Given the description of an element on the screen output the (x, y) to click on. 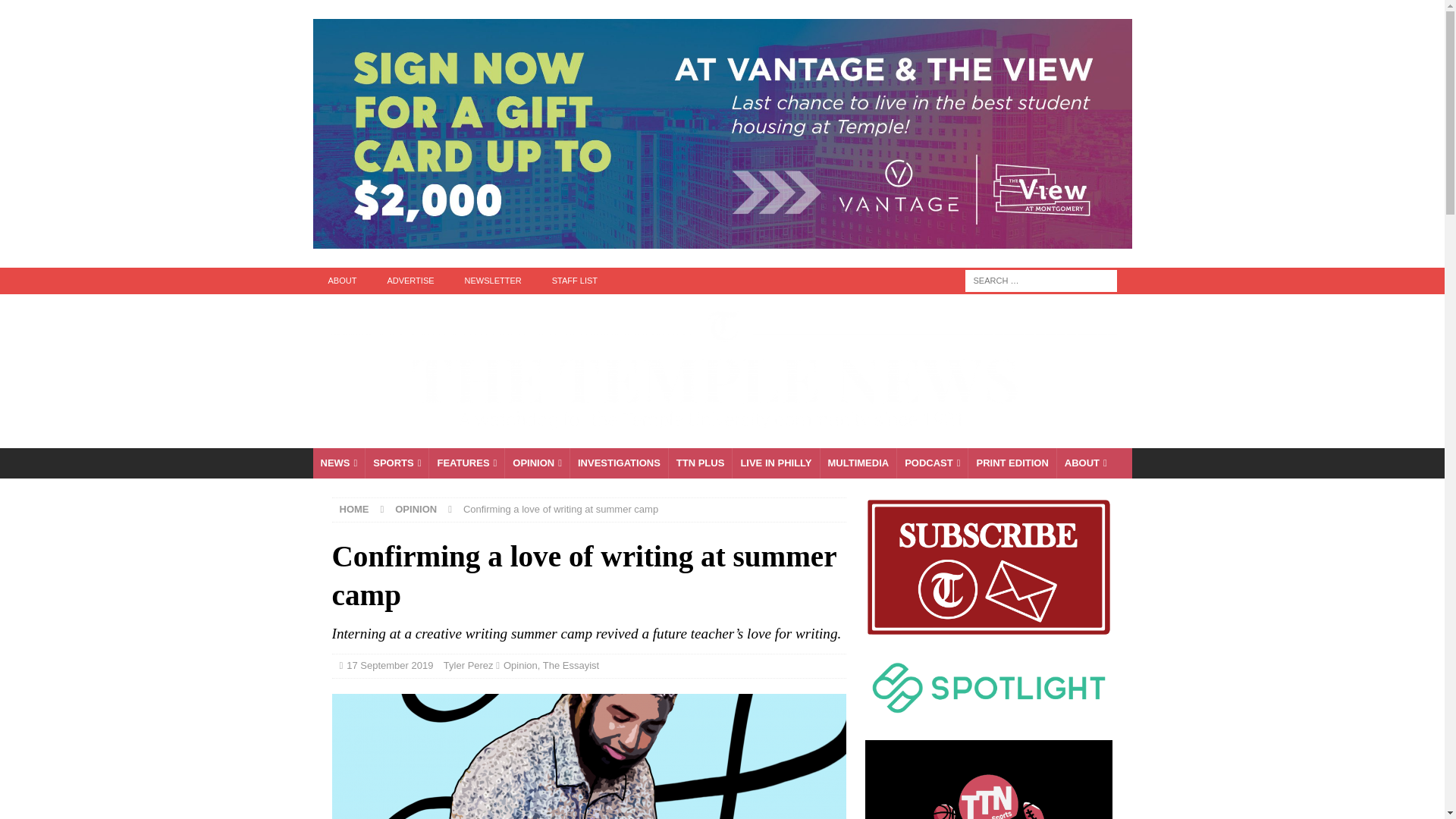
Tyler Online (588, 756)
STAFF LIST (574, 280)
Posts by Tyler Perez (468, 665)
ADVERTISE (409, 280)
ABOUT (342, 280)
NEWSLETTER (493, 280)
Search (56, 11)
Longform (700, 463)
